Given the description of an element on the screen output the (x, y) to click on. 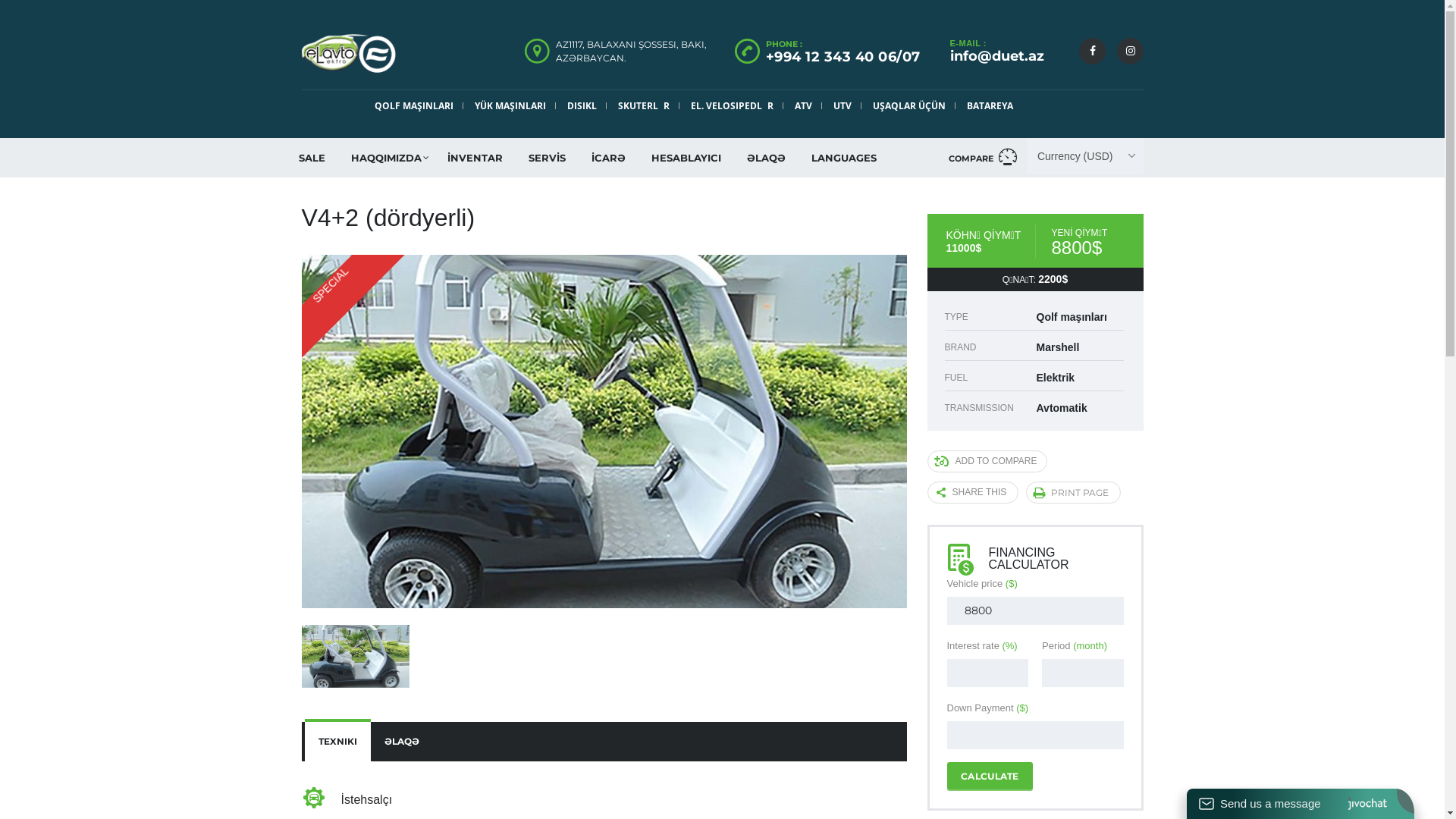
COMPARE Element type: text (982, 157)
HAQQIMIZDA Element type: text (386, 157)
SALE Element type: text (311, 157)
ADD TO COMPARE Element type: text (986, 461)
info@duet.az Element type: text (996, 55)
CALCULATE Element type: text (989, 775)
PRINT PAGE Element type: text (1073, 492)
ATV Element type: text (803, 105)
SHARE THIS Element type: text (972, 492)
UTV Element type: text (842, 105)
DISIKL Element type: text (581, 105)
BATAREYA Element type: text (989, 105)
Home Element type: hover (348, 52)
TEXNIKI Element type: text (337, 741)
+994 12 343 40 06/07 Element type: text (842, 56)
LANGUAGES Element type: text (842, 157)
HESABLAYICI Element type: text (686, 157)
